Given the description of an element on the screen output the (x, y) to click on. 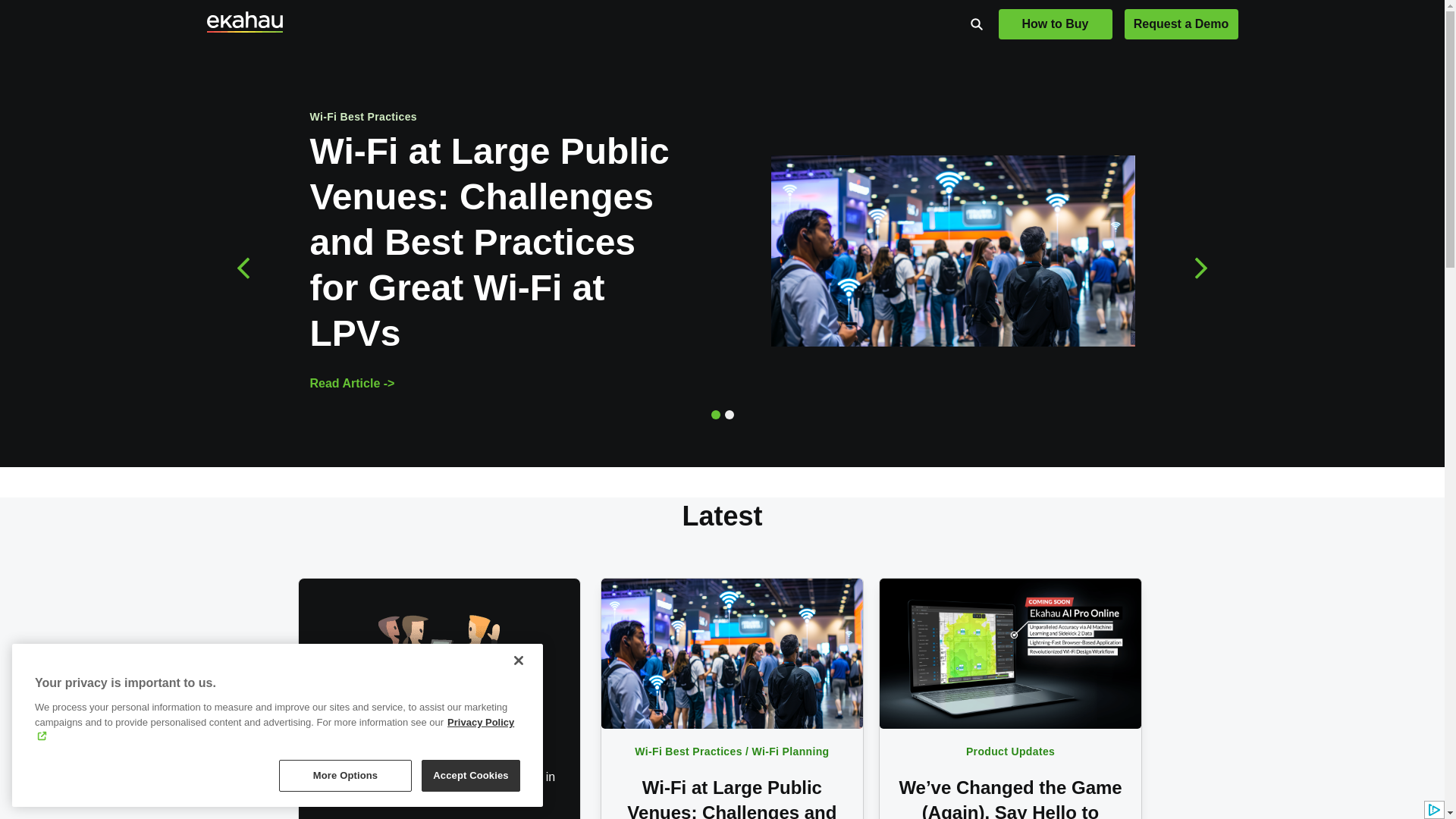
Wi-Fi Best Practices (362, 116)
Wi-Fi Planning (790, 750)
Pardot Newsletter Form (439, 811)
How to Buy (1054, 24)
Product Updates (1010, 750)
Wi-Fi Best Practices (687, 750)
Request a Demo (1180, 24)
